Given the description of an element on the screen output the (x, y) to click on. 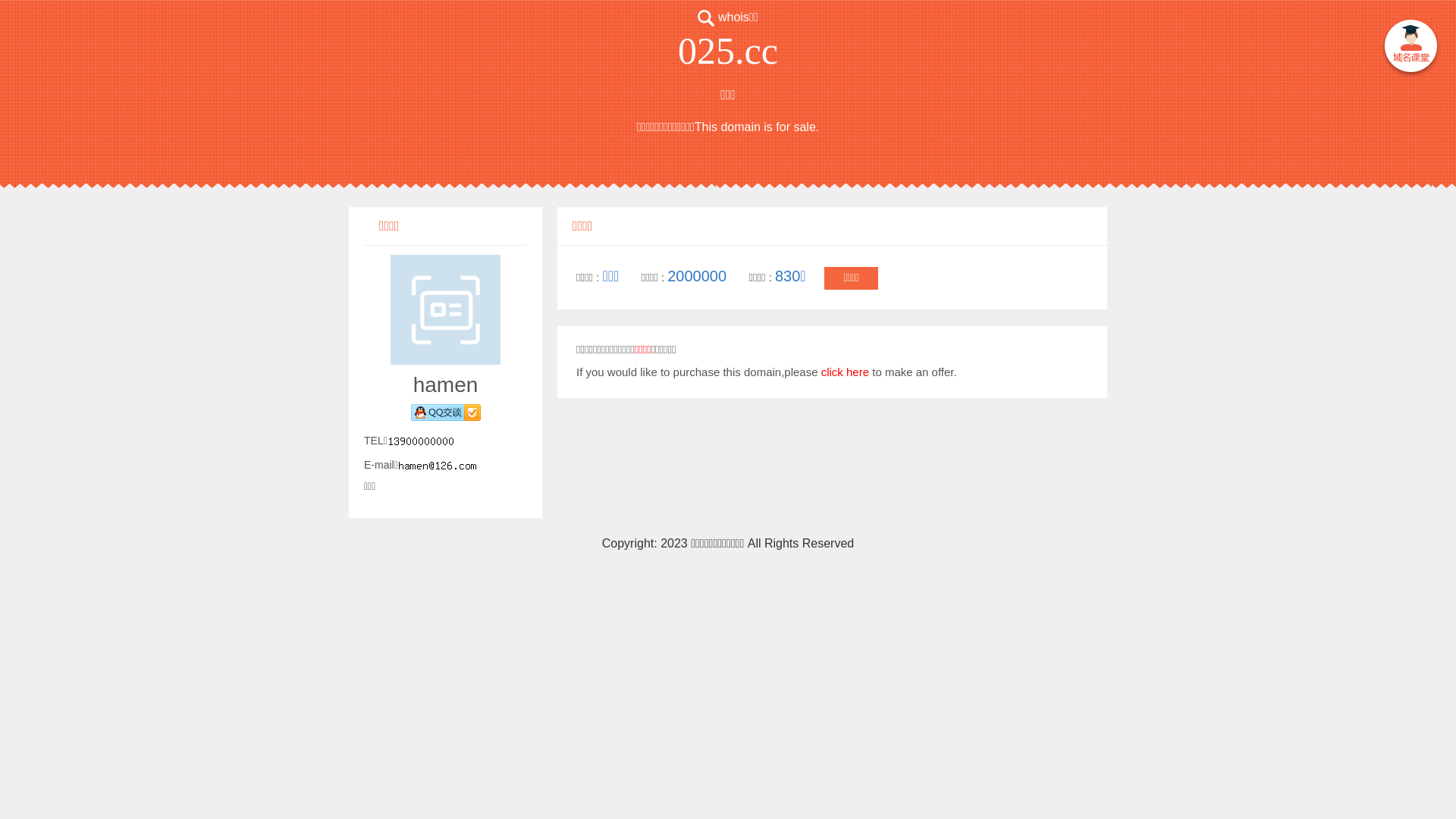
click here Element type: text (845, 371)
  Element type: text (1410, 48)
